Given the description of an element on the screen output the (x, y) to click on. 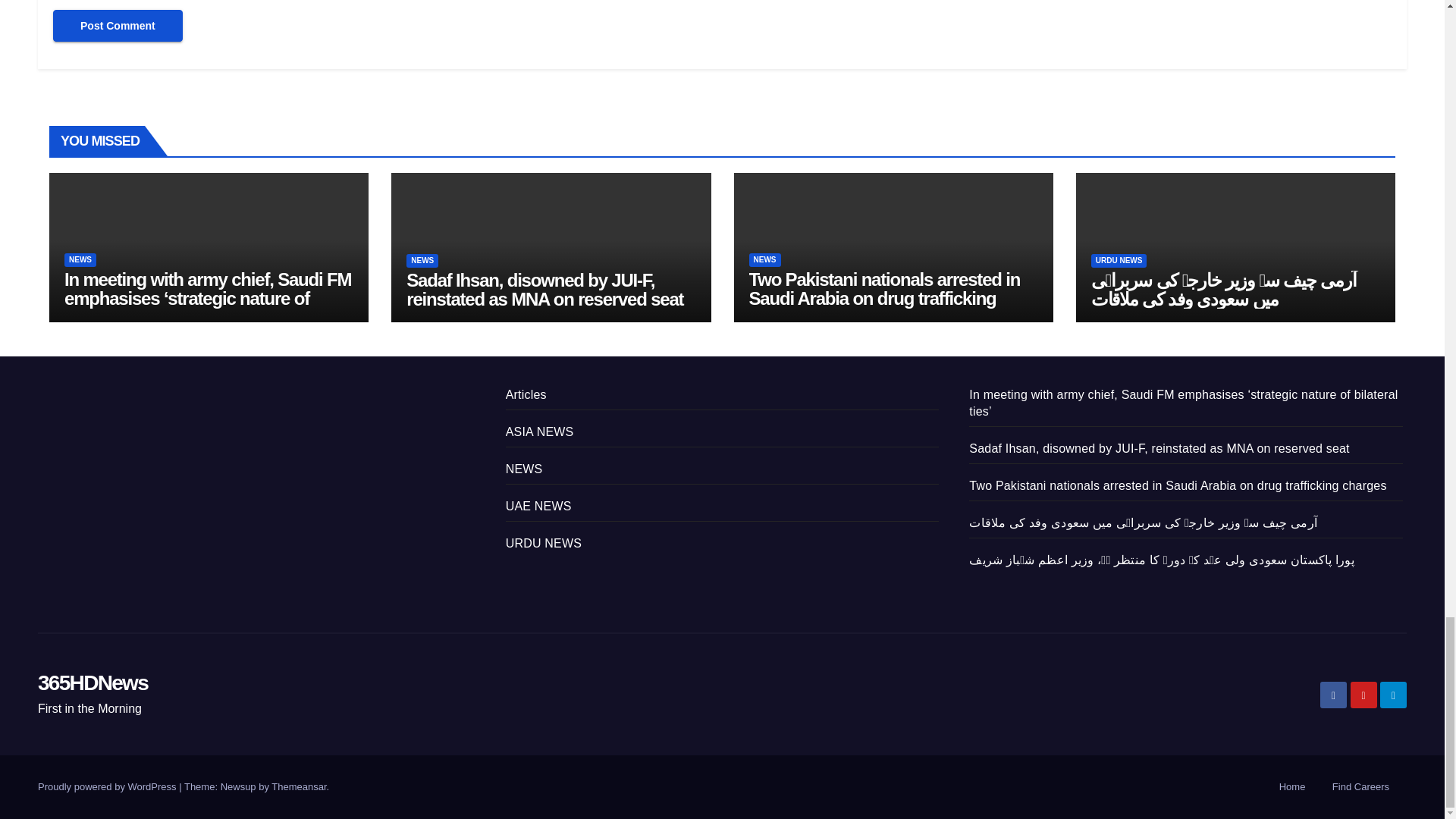
NEWS (80, 259)
Home (1291, 786)
Post Comment (117, 25)
Find Careers (1360, 786)
NEWS (422, 260)
Post Comment (117, 25)
